Given the description of an element on the screen output the (x, y) to click on. 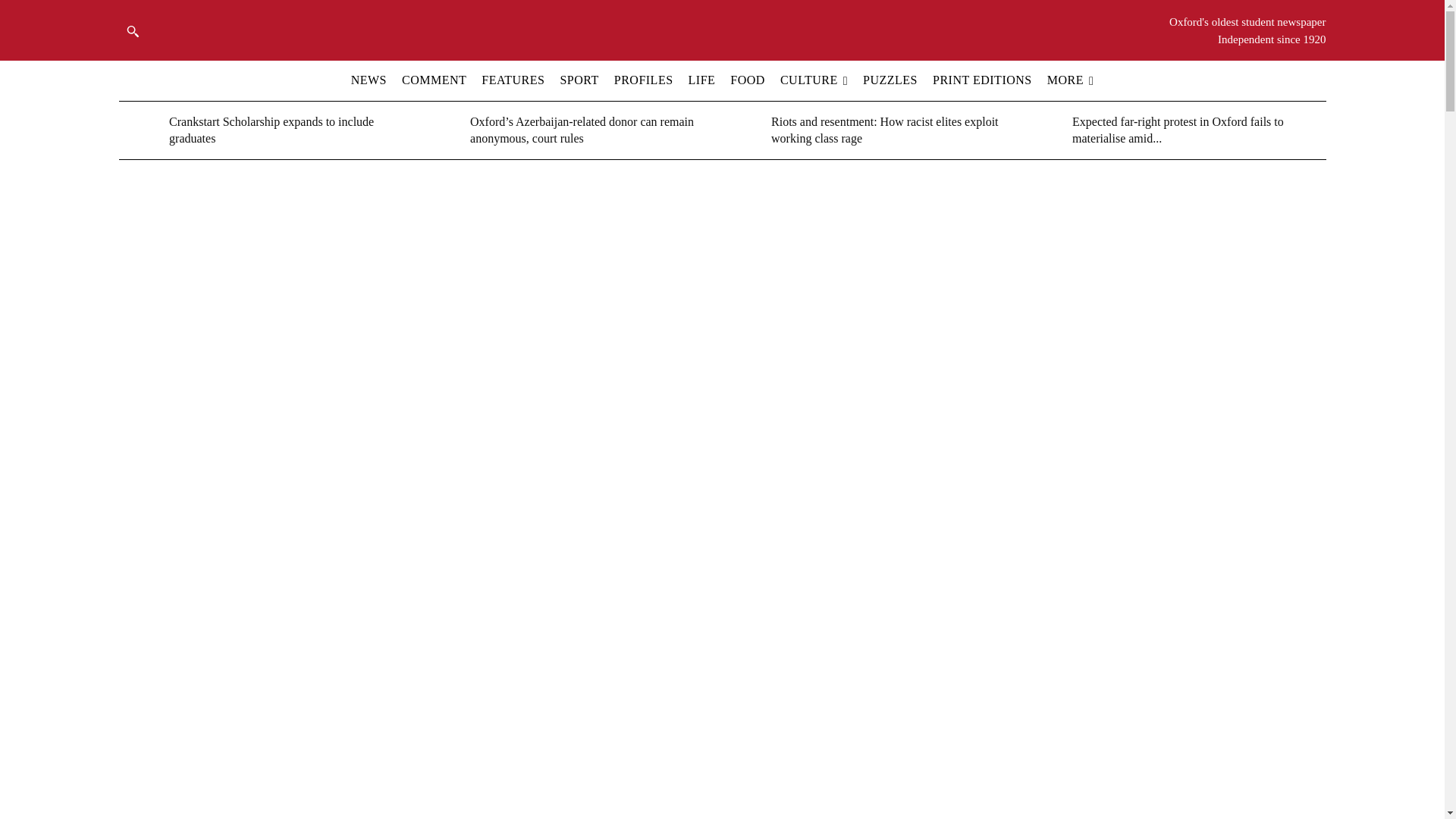
PROFILES (643, 79)
Crankstart Scholarship expands to include graduates (139, 130)
FOOD (747, 79)
NEWS (368, 79)
LIFE (701, 79)
SPORT (579, 79)
COMMENT (433, 79)
FEATURES (512, 79)
